Given the description of an element on the screen output the (x, y) to click on. 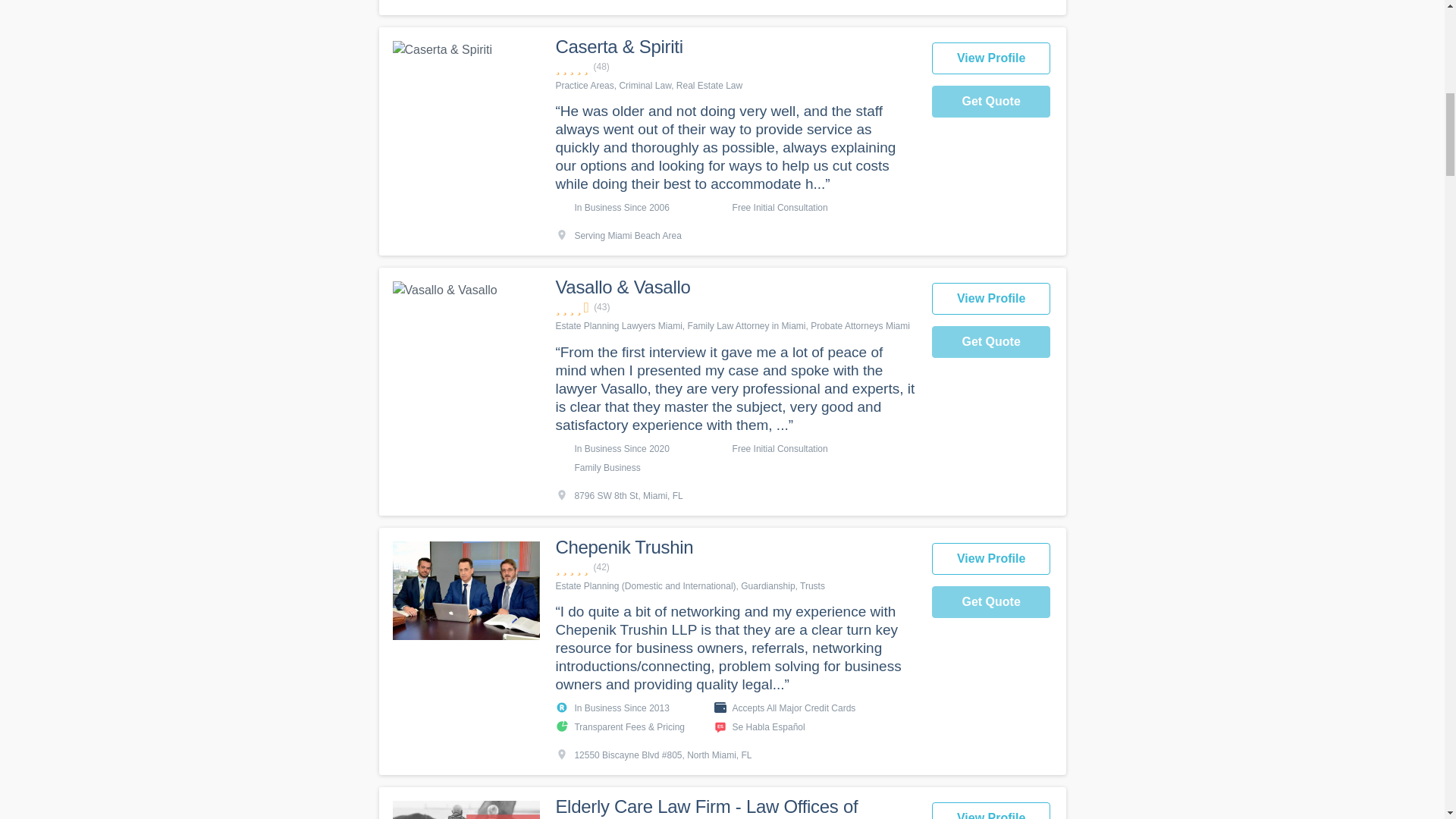
Get Quote (991, 101)
4.7 (734, 567)
4.5 (734, 307)
4.9 (734, 66)
Get Quote (991, 341)
